Given the description of an element on the screen output the (x, y) to click on. 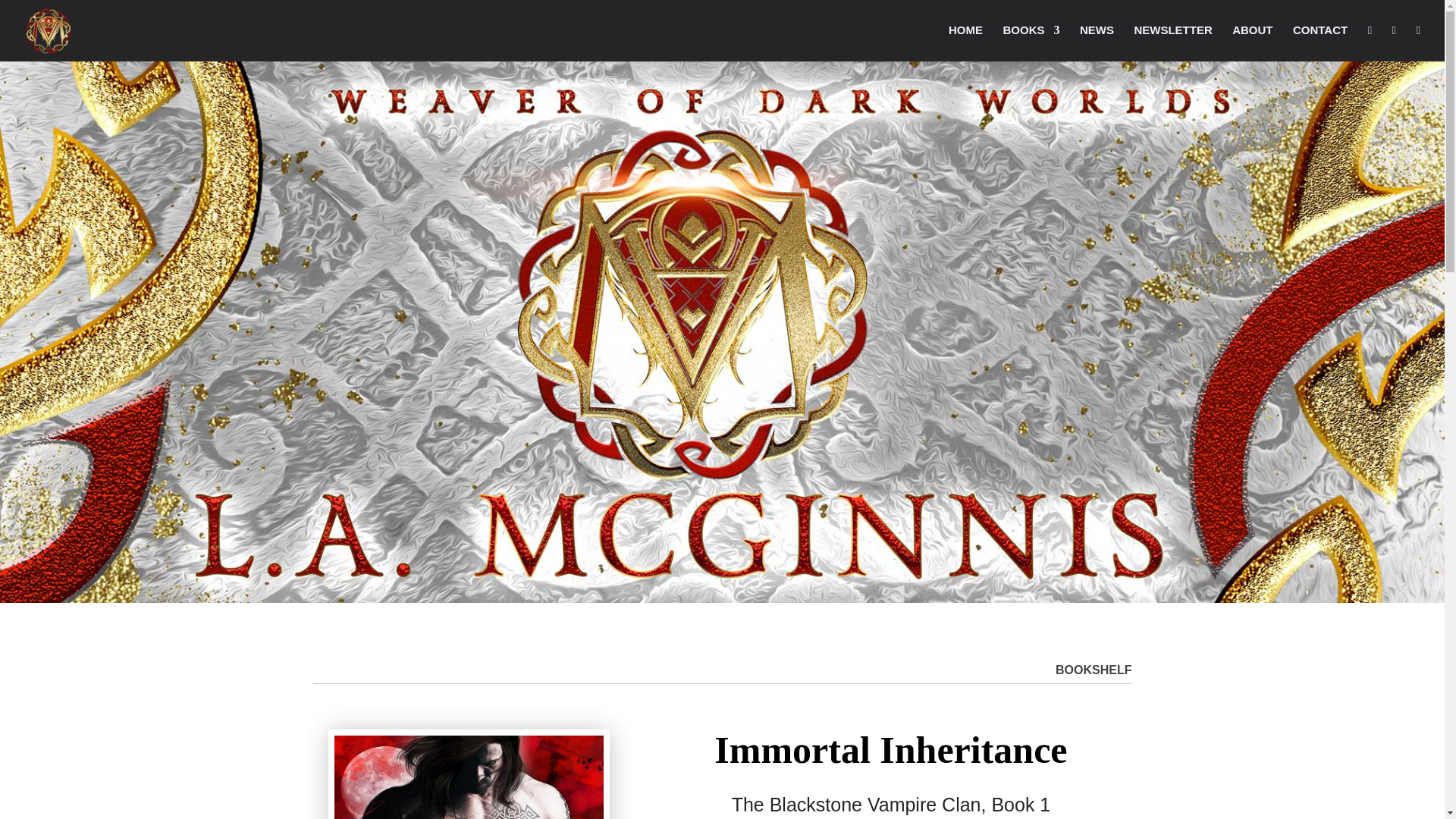
HOME (965, 42)
NEWS (1096, 42)
NEWSLETTER (1172, 42)
Immortal Inheritance (469, 777)
ABOUT (1251, 42)
BOOKS (1031, 42)
CONTACT (1320, 42)
